Given the description of an element on the screen output the (x, y) to click on. 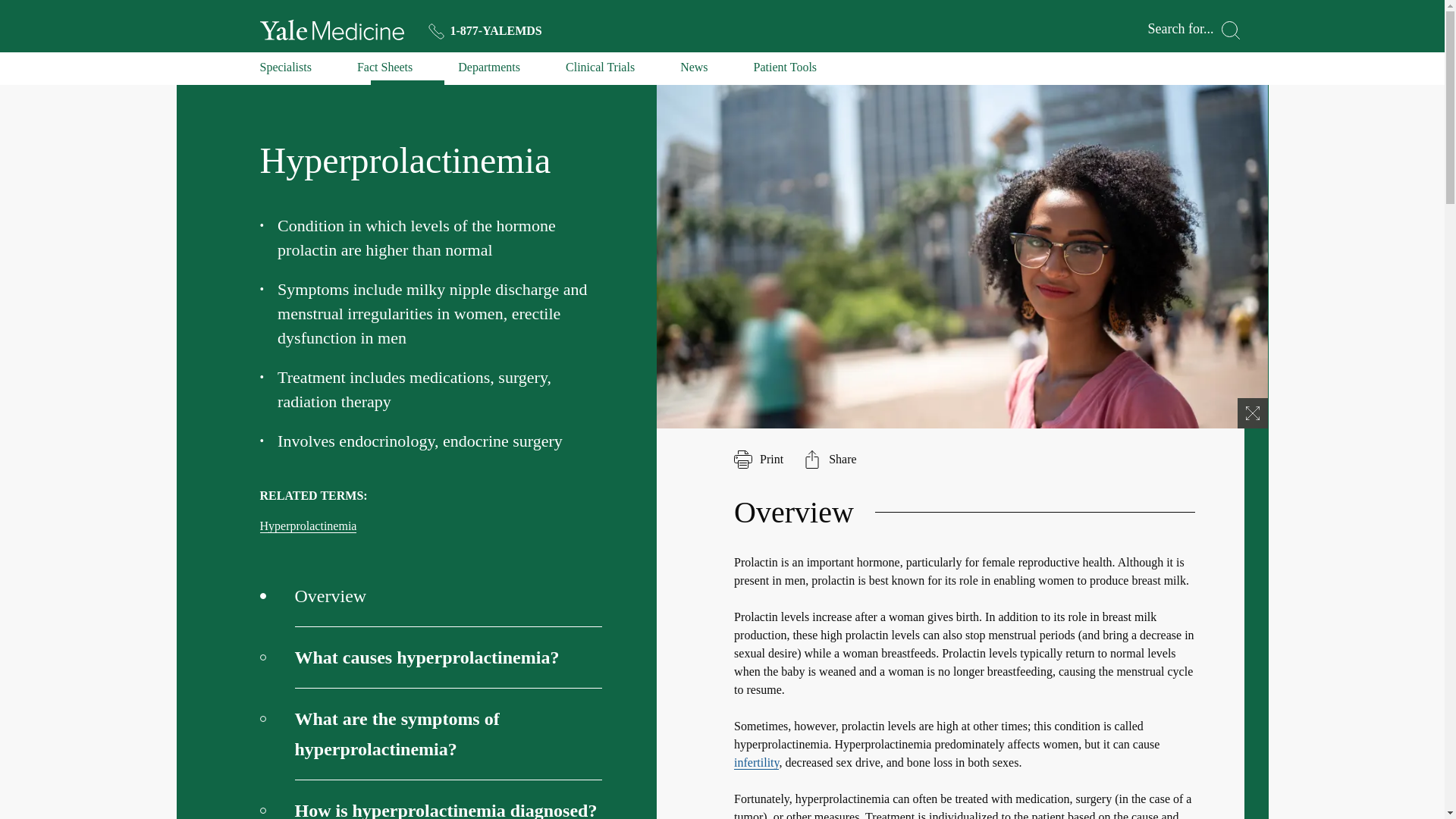
Print (758, 459)
What are the symptoms of hyperprolactinemia? (430, 734)
infertility (755, 762)
Share (829, 459)
Clinical Trials (600, 71)
Search for (1193, 31)
Departments (488, 71)
Patient Tools (785, 71)
1-877-YALEMDS (484, 31)
News (693, 71)
What causes hyperprolactinemia? (430, 657)
Specialists (285, 71)
Overview (430, 596)
How is hyperprolactinemia diagnosed? (430, 799)
Hyperprolactinemia (307, 526)
